Given the description of an element on the screen output the (x, y) to click on. 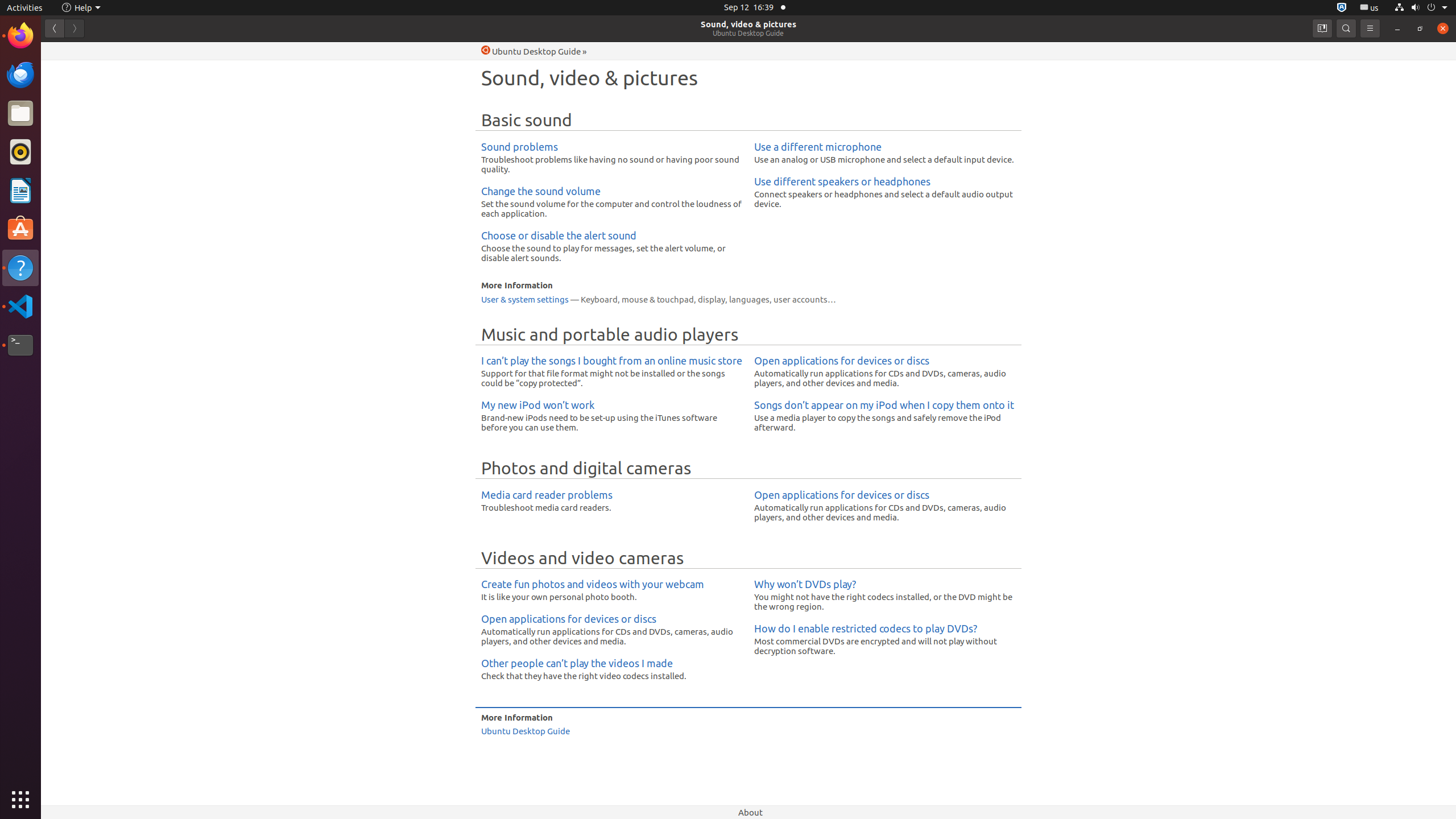
Songs don’t appear on my iPod when I copy them onto it Use a media player to copy the songs and safely remove the iPod afterward. Element type: link (884, 415)
Choose or disable the alert sound Choose the sound to play for messages, set the alert volume, or disable alert sounds. Element type: link (611, 245)
Why won’t DVDs play? You might not have the right codecs installed, or the DVD might be the wrong region. Element type: link (884, 594)
